Given the description of an element on the screen output the (x, y) to click on. 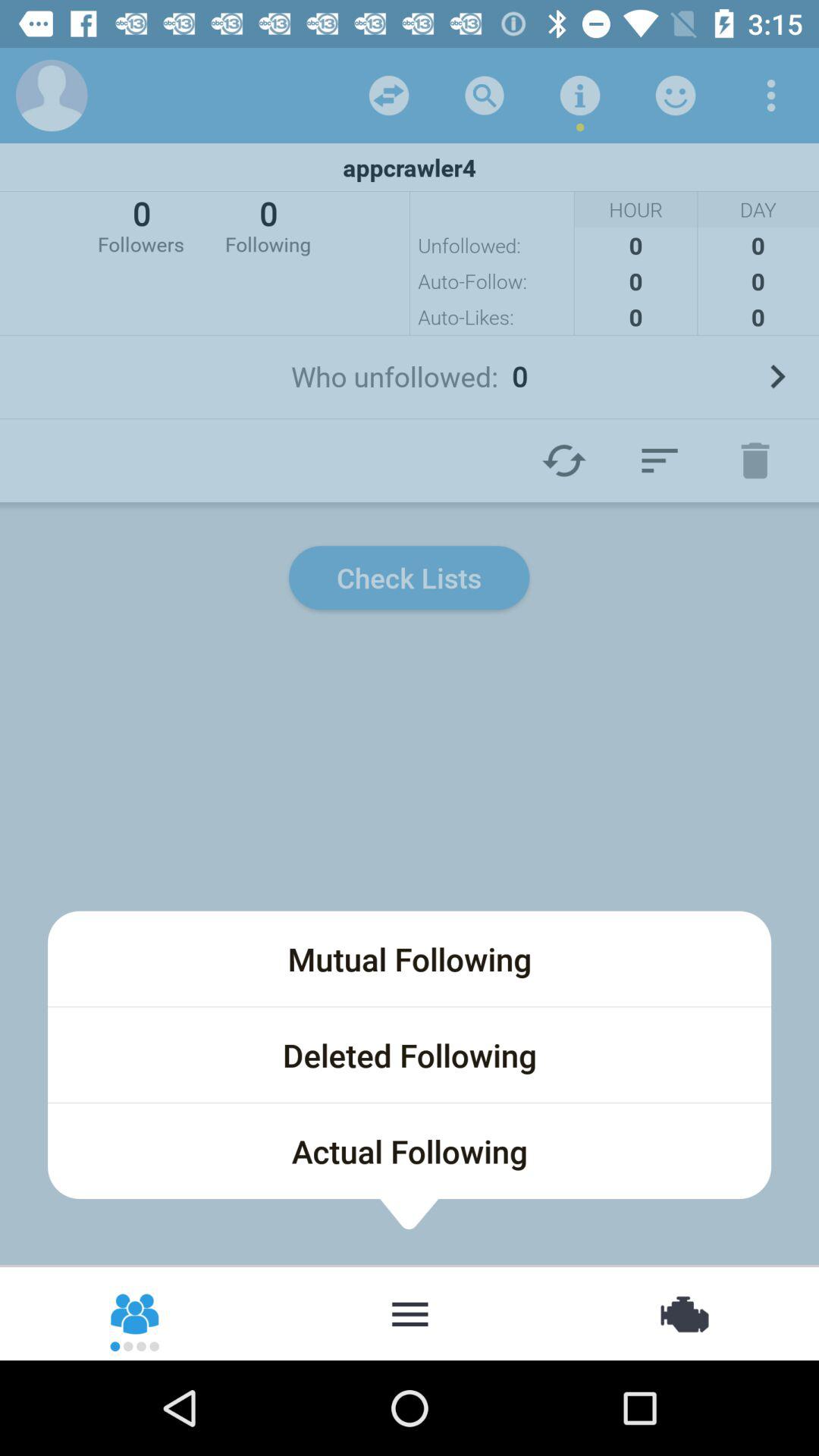
delete appcrawler4 (755, 460)
